Given the description of an element on the screen output the (x, y) to click on. 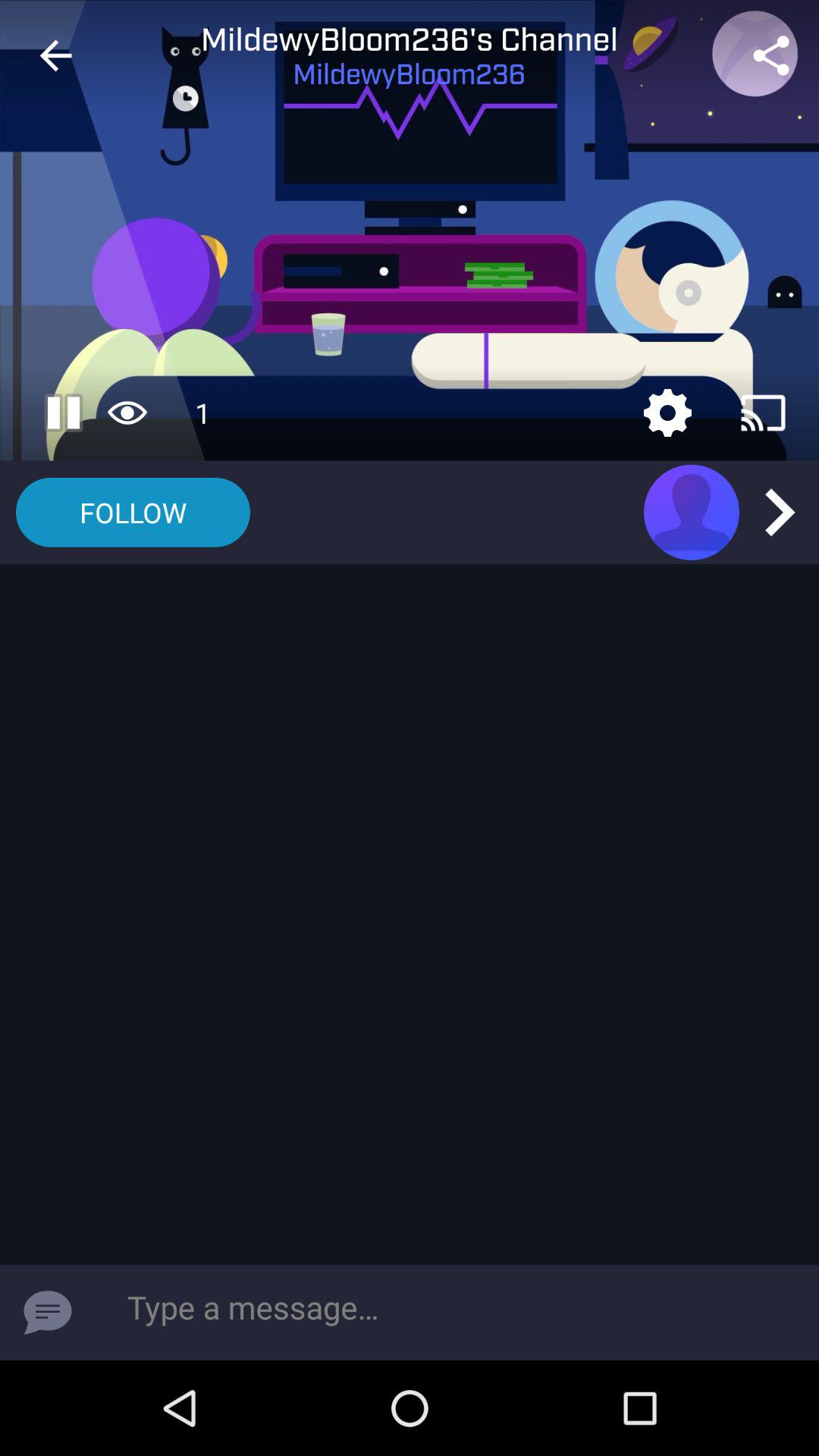
launch the item next to the mildewybloom236's channel item (771, 55)
